Given the description of an element on the screen output the (x, y) to click on. 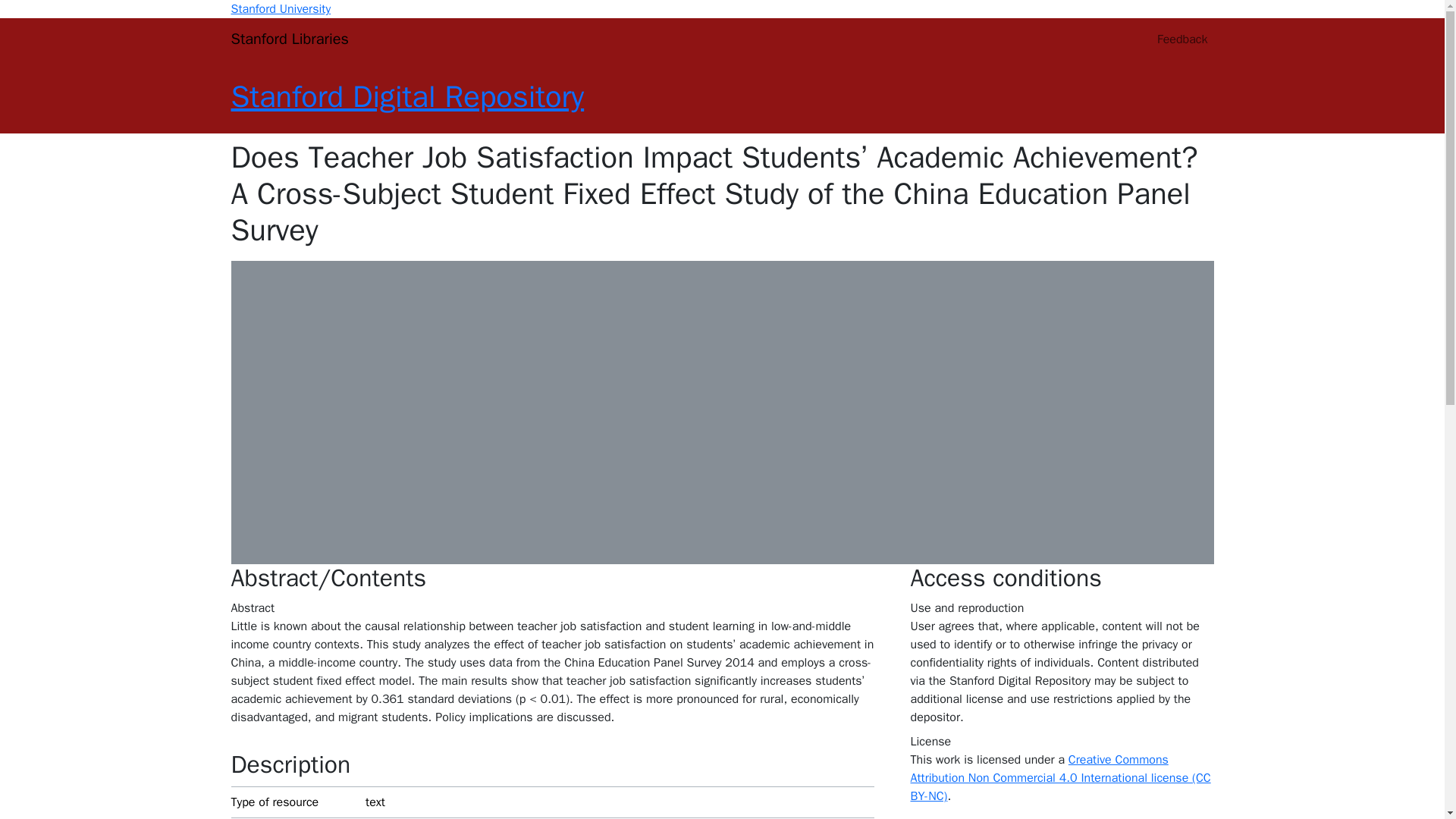
Stanford Libraries (288, 39)
Stanford University (280, 8)
Feedback (1181, 39)
Stanford Digital Repository (406, 96)
